Given the description of an element on the screen output the (x, y) to click on. 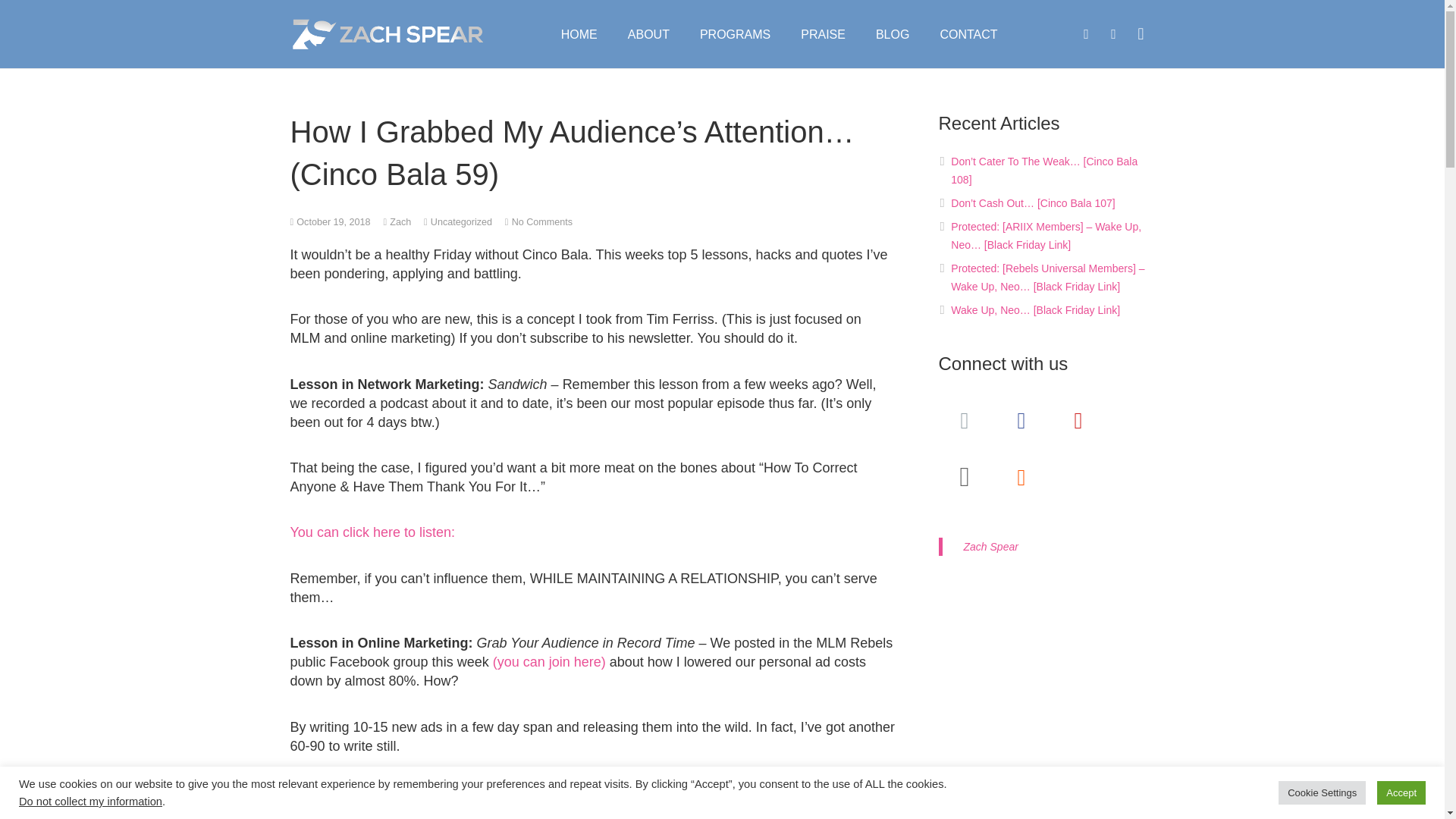
ABOUT (648, 33)
HOME (579, 33)
Zach (400, 222)
PROGRAMS (735, 33)
PRAISE (823, 33)
CONTACT (967, 33)
No Comments (542, 222)
BLOG (892, 33)
You can click here to listen: (371, 531)
Uncategorized (461, 222)
